Given the description of an element on the screen output the (x, y) to click on. 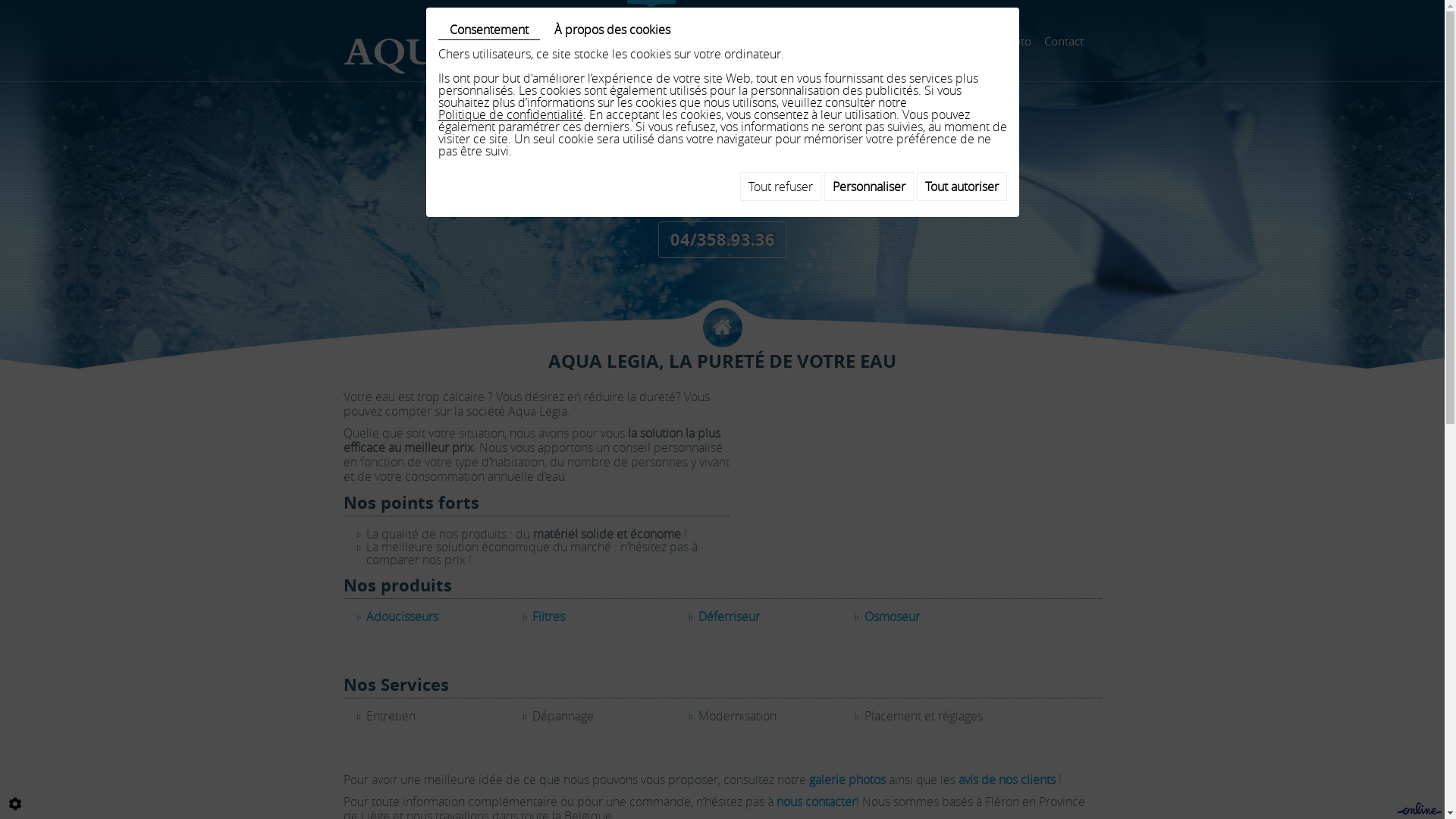
avis de nos clients Element type: text (1006, 779)
nous contacter Element type: text (816, 801)
Adoucisseurs Element type: text (716, 40)
Filtres Element type: text (548, 616)
Tout autoriser Element type: text (961, 186)
Accueil Element type: text (650, 40)
Adoucisseurs Element type: text (401, 616)
Osmoseurs Element type: text (916, 40)
Personnaliser Element type: text (868, 186)
Filtres Element type: text (781, 40)
Contact Element type: text (1063, 40)
04/358.93.36 Element type: text (722, 239)
galerie photos Element type: text (846, 779)
Galerie photo Element type: text (994, 40)
Osmoseur Element type: text (891, 616)
Aqua Legia - Fleron - Adoucisseurs, Filtres Element type: hover (469, 51)
Tout refuser Element type: text (780, 186)
Consentement Element type: text (488, 29)
